Given the description of an element on the screen output the (x, y) to click on. 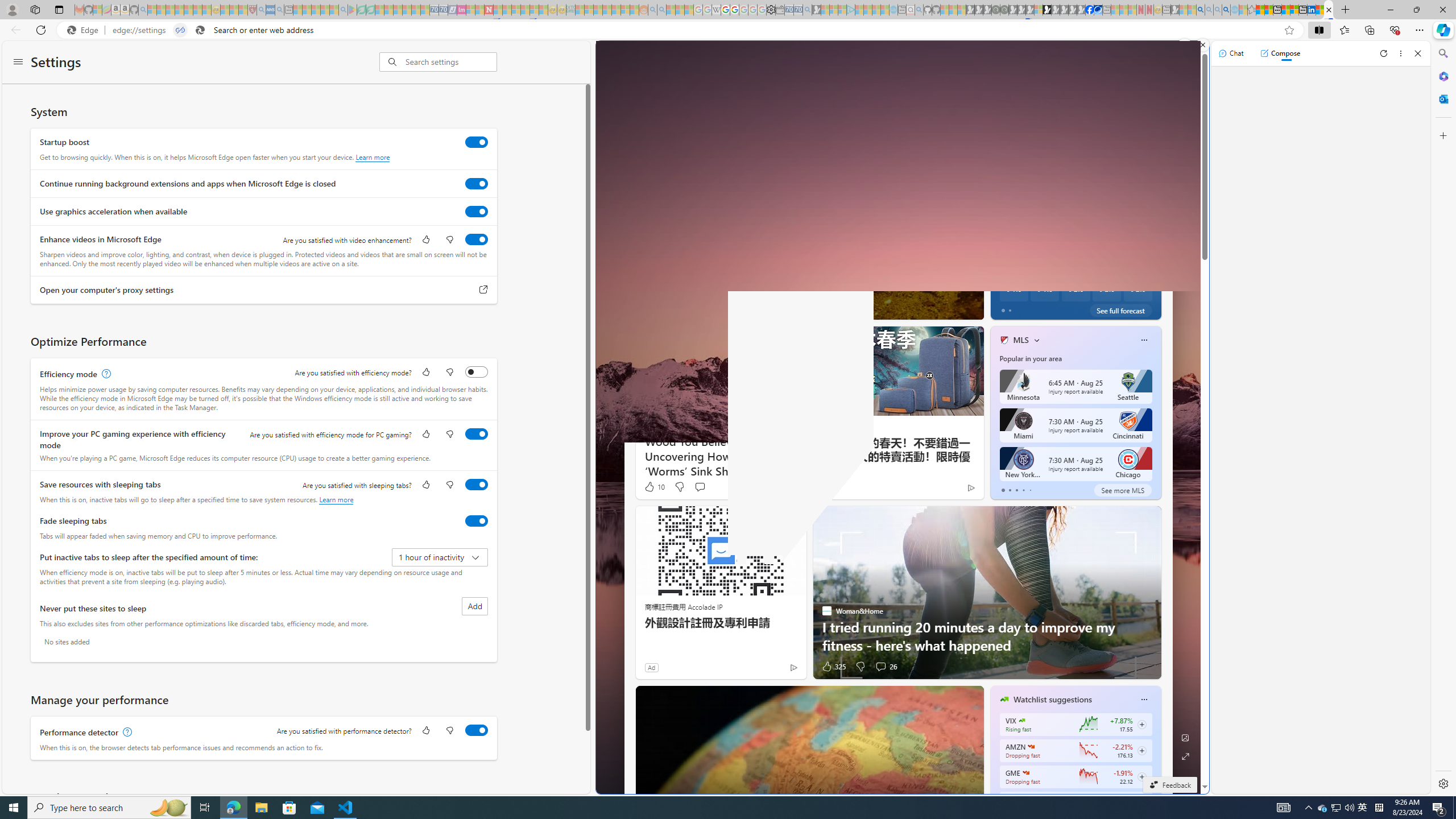
AutomationID: tab-24 (826, 308)
Privacy Help Center - Policies Help (725, 9)
App launcher (620, 59)
Lifewire (999, 269)
tab-4 (1029, 489)
Class: weather-current-precipitation-glyph (1131, 289)
View comments 18 Comment (1054, 307)
